Given the description of an element on the screen output the (x, y) to click on. 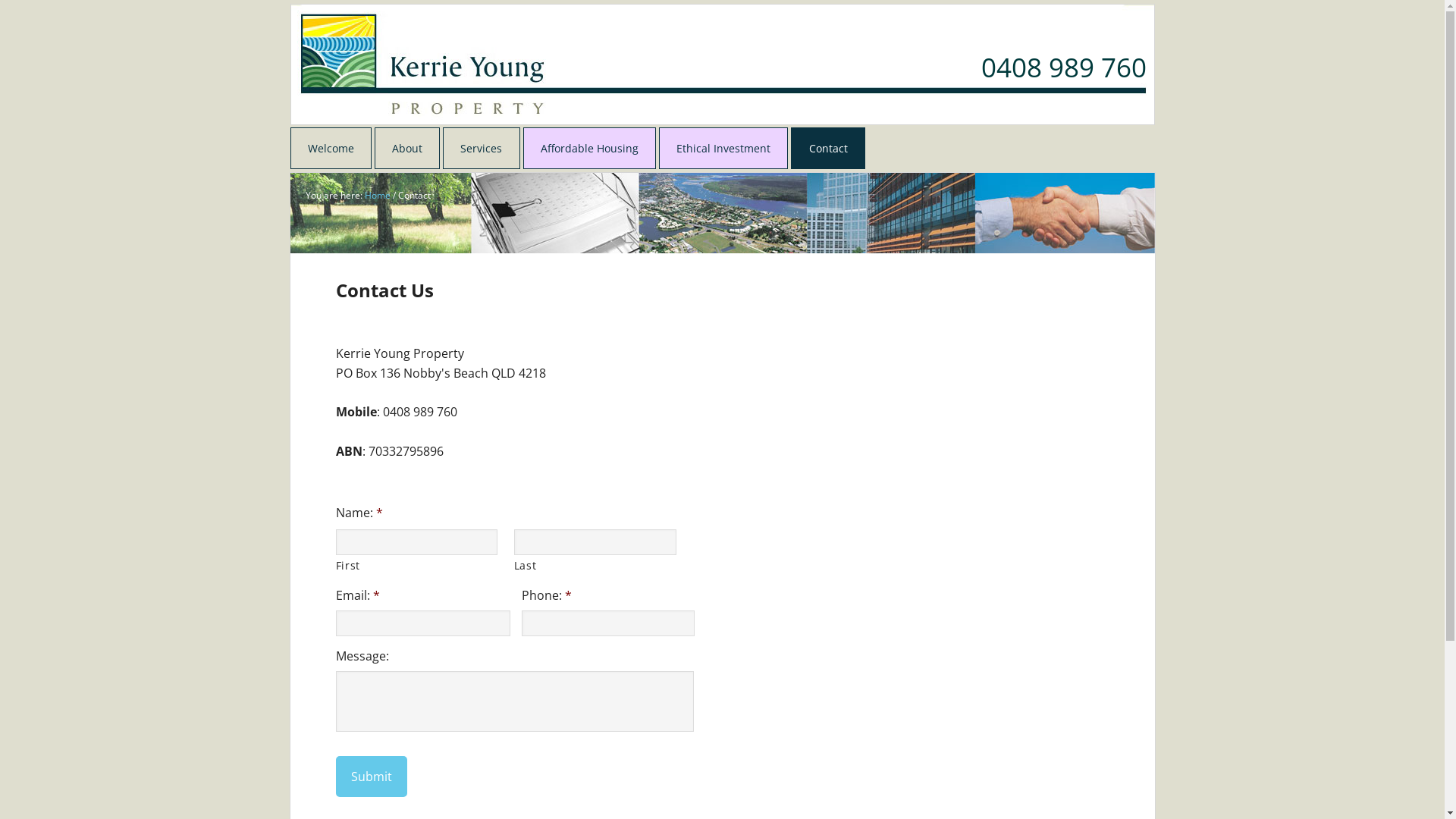
Welcome Element type: text (329, 148)
Services Element type: text (480, 148)
Affordable Housing Element type: text (589, 148)
About Element type: text (406, 148)
Home Element type: text (376, 194)
Kerrie Young Property Element type: text (389, 42)
Submit Element type: text (370, 776)
Contact Element type: text (827, 148)
Ethical Investment Element type: text (722, 148)
